Given the description of an element on the screen output the (x, y) to click on. 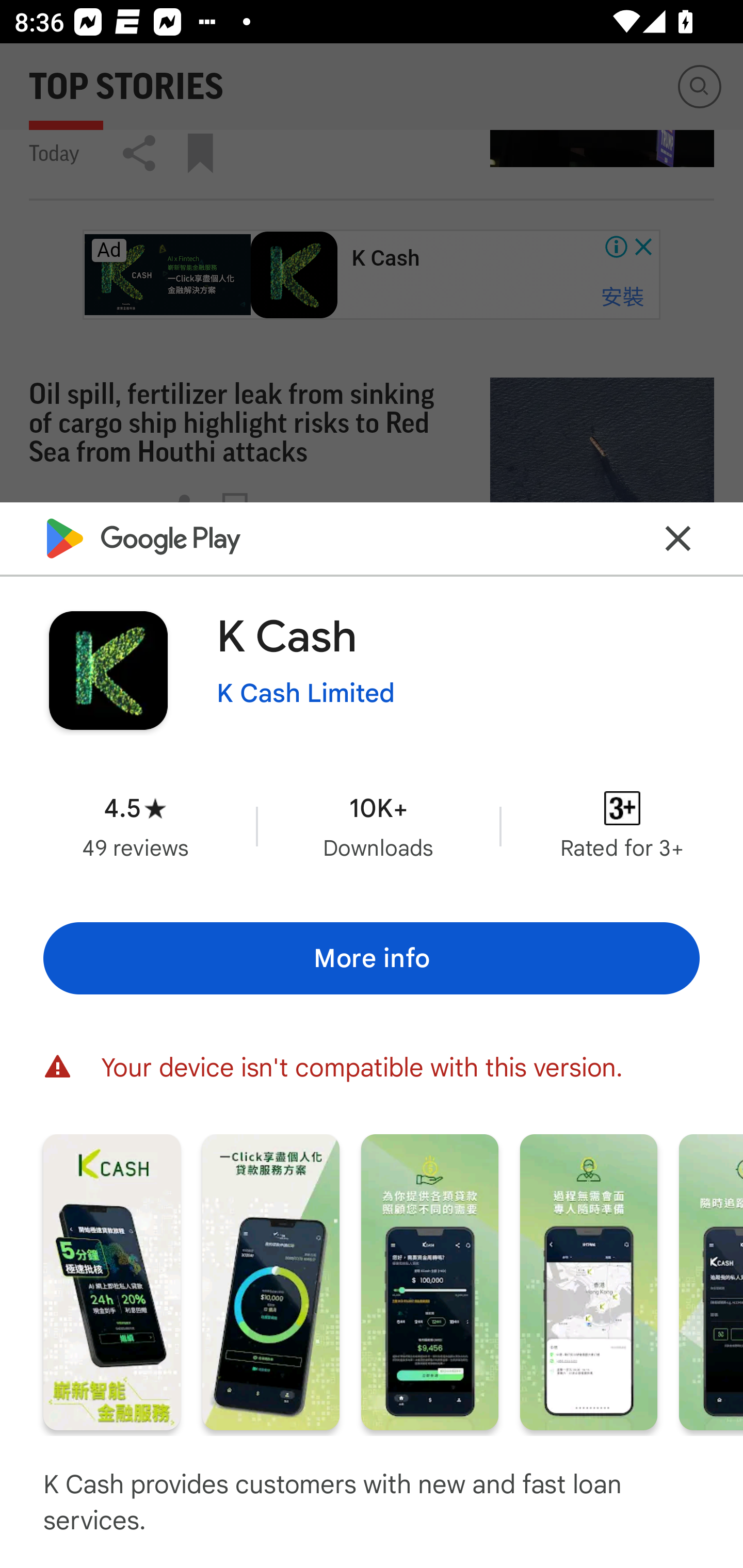
Close (677, 537)
Image of app or game icon for K Cash (108, 670)
K Cash Limited (305, 693)
More info (371, 957)
Screenshot "1" of "5" (111, 1281)
Screenshot "2" of "5" (270, 1281)
Screenshot "3" of "5" (429, 1281)
Screenshot "4" of "5" (588, 1281)
